Given the description of an element on the screen output the (x, y) to click on. 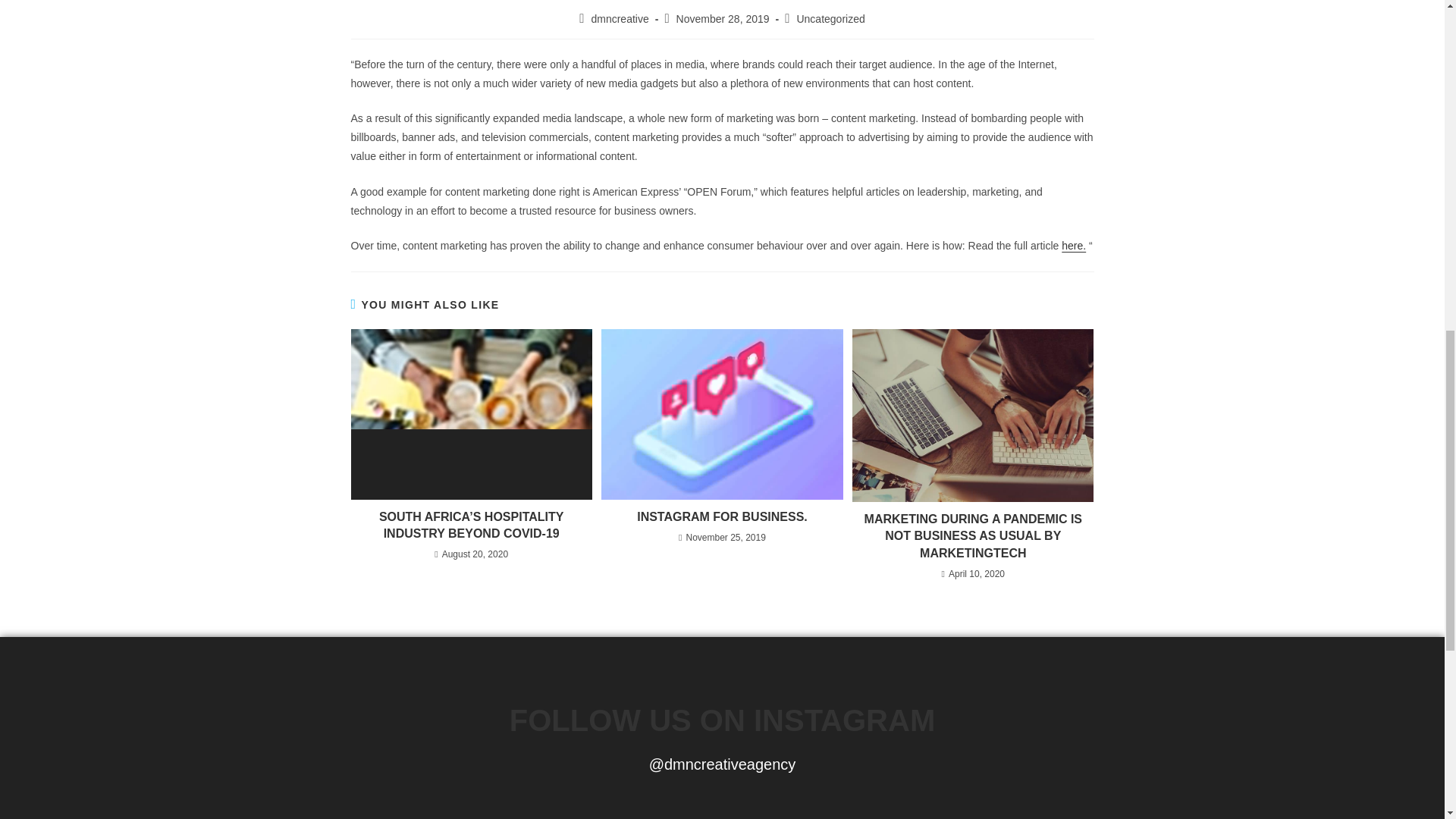
here. (1073, 245)
Uncategorized (830, 19)
dmncreative (619, 19)
INSTAGRAM FOR BUSINESS. (721, 516)
Posts by dmncreative (619, 19)
